Given the description of an element on the screen output the (x, y) to click on. 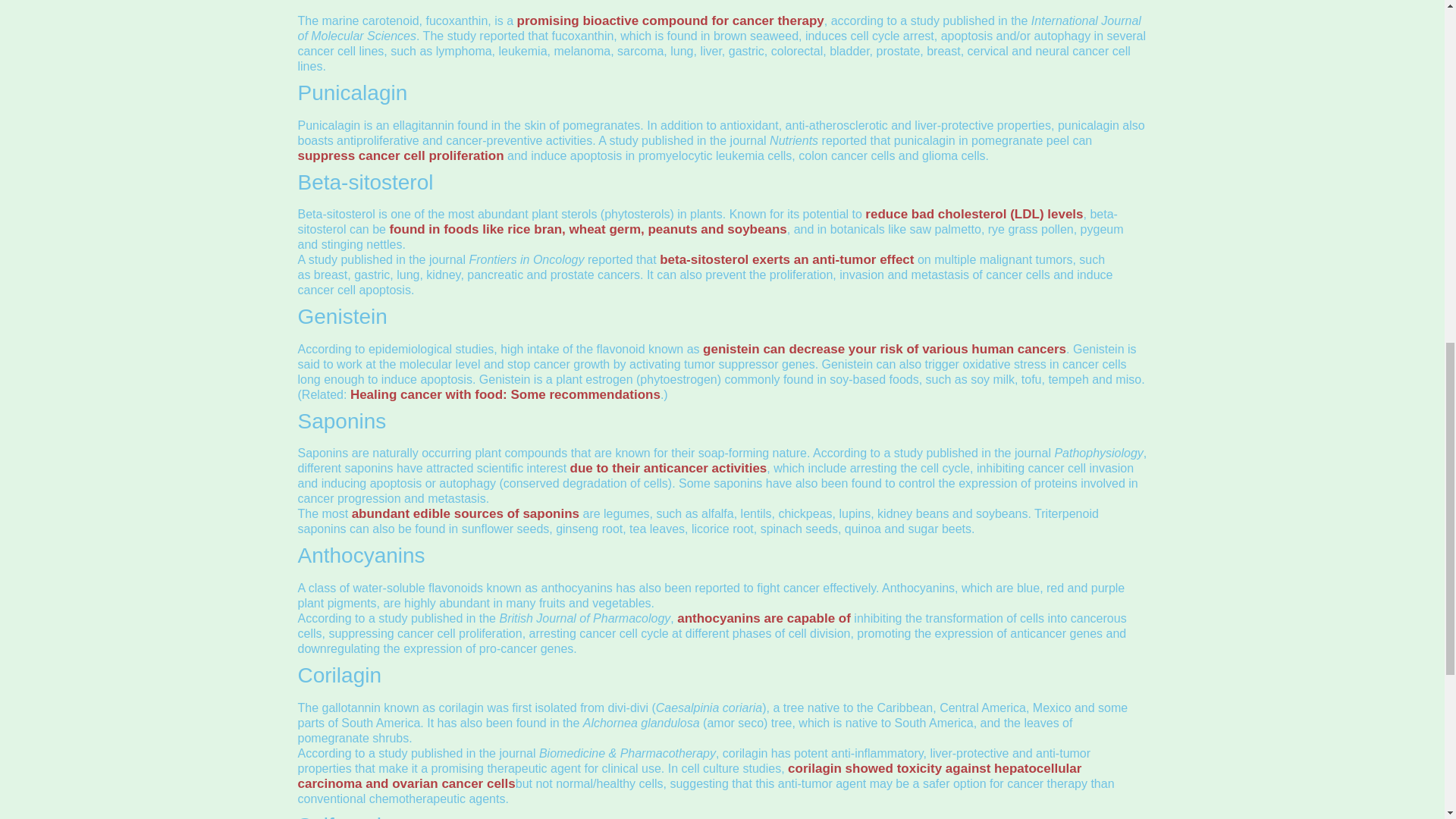
Healing cancer with food: Some recommendations (505, 394)
genistein can decrease your risk of various human cancers (884, 349)
abundant edible sources of saponins (465, 513)
promising bioactive compound for cancer therapy (670, 20)
suppress cancer cell proliferation (400, 155)
due to their anticancer activities (668, 468)
anthocyanins are capable of (763, 617)
beta-sitosterol exerts an anti-tumor effect (786, 259)
